Given the description of an element on the screen output the (x, y) to click on. 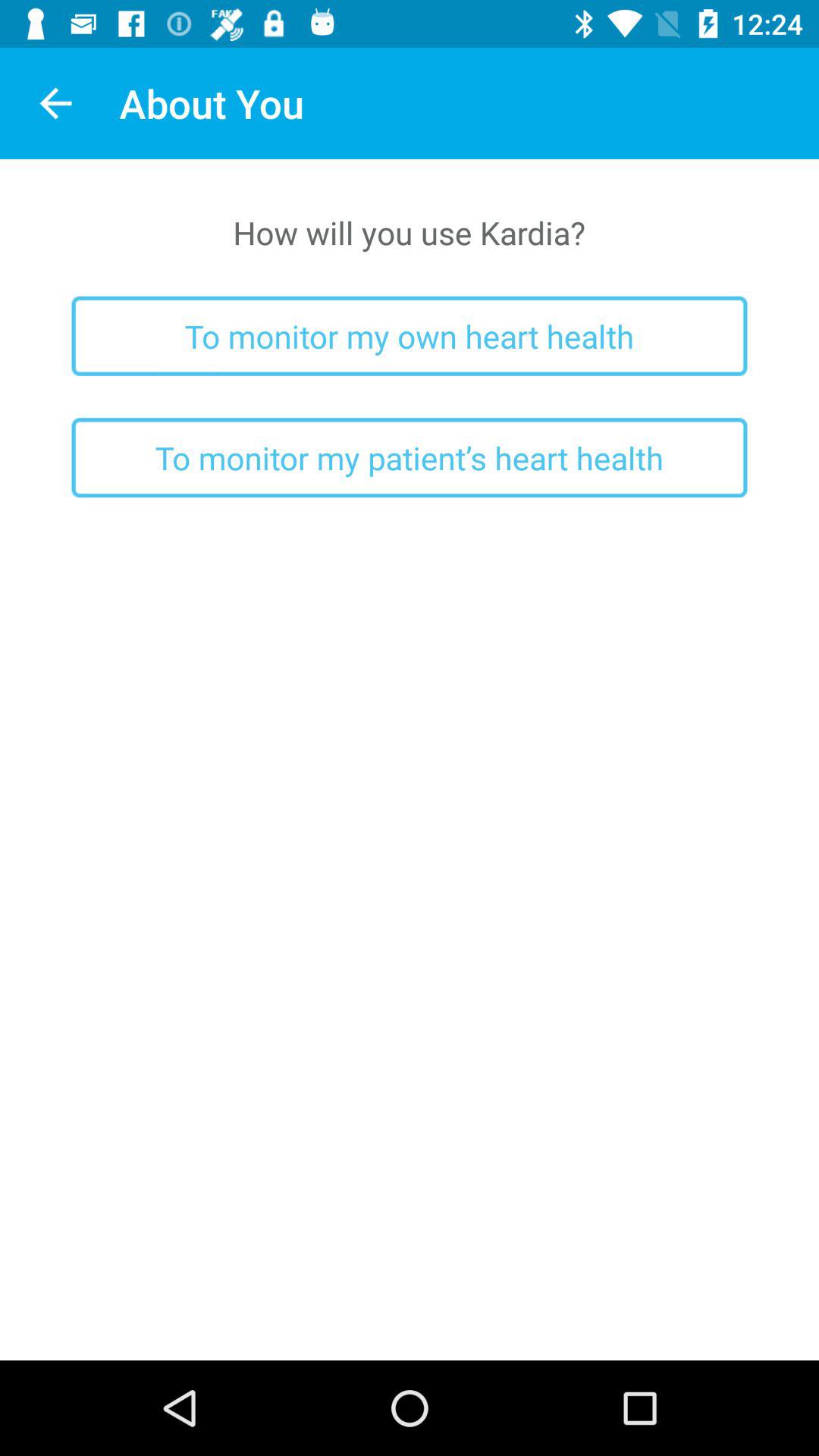
launch the icon next to about you item (55, 103)
